Given the description of an element on the screen output the (x, y) to click on. 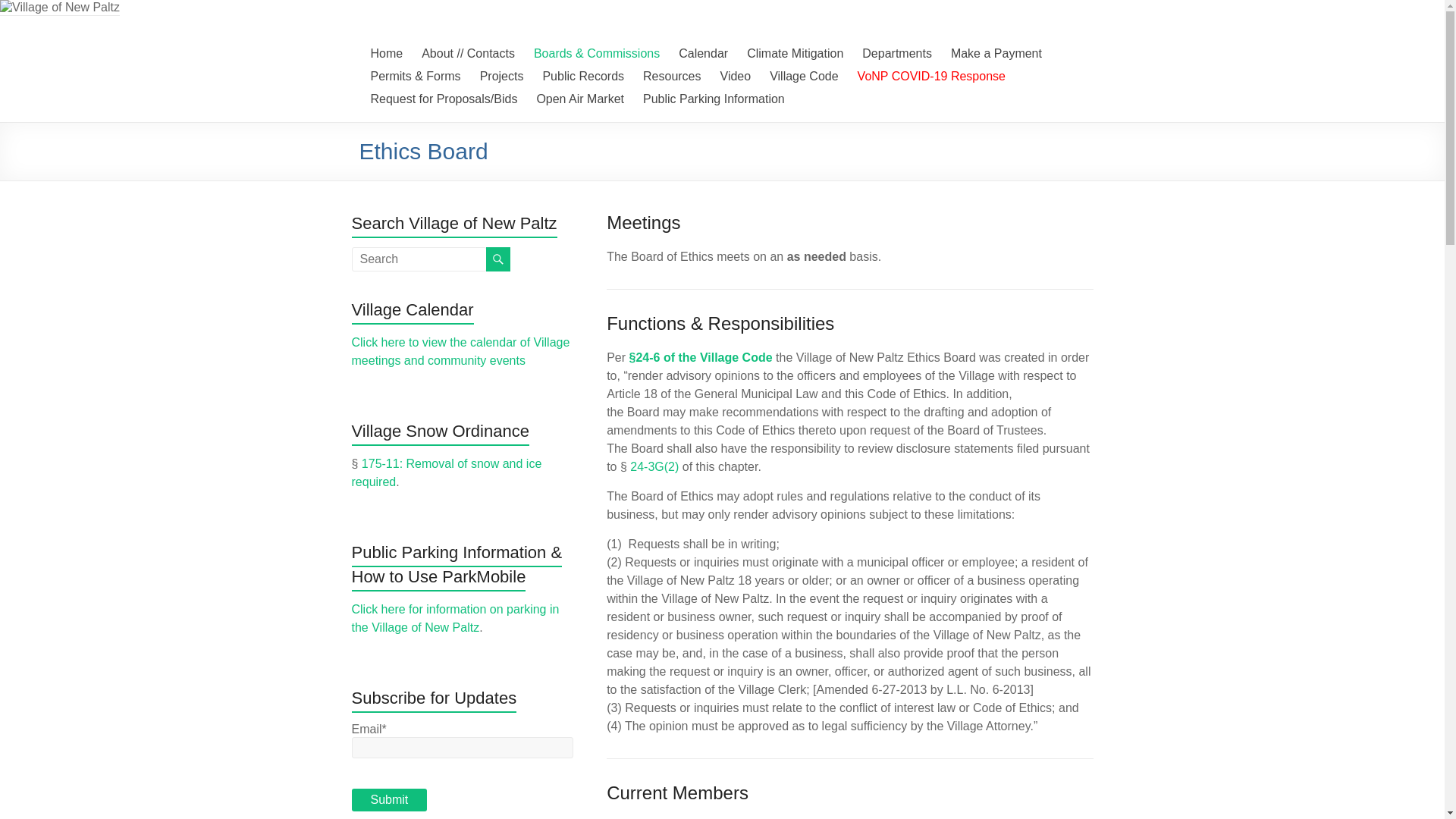
Climate Mitigation (794, 53)
NBR Committee (502, 76)
Home (386, 53)
Submit (390, 799)
Make a Payment (996, 53)
Departments (896, 53)
Calendar (703, 53)
